Given the description of an element on the screen output the (x, y) to click on. 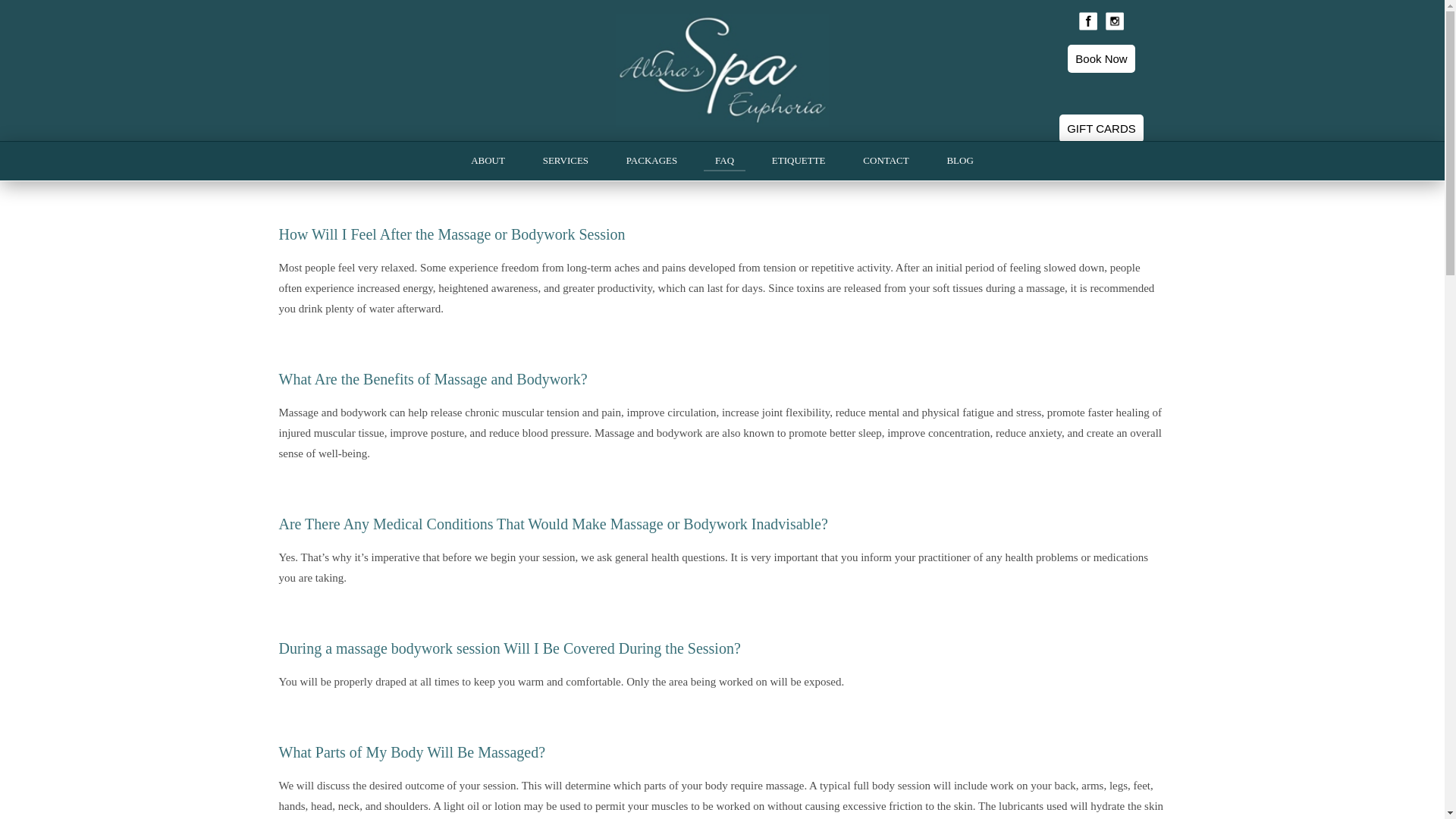
610-775-7040 (1101, 197)
Book Now (1100, 58)
BLOG (959, 161)
ETIQUETTE (798, 161)
CONTACT (885, 161)
GIFT CARDS (1100, 128)
FAQ (724, 161)
PACKAGES (651, 161)
